Given the description of an element on the screen output the (x, y) to click on. 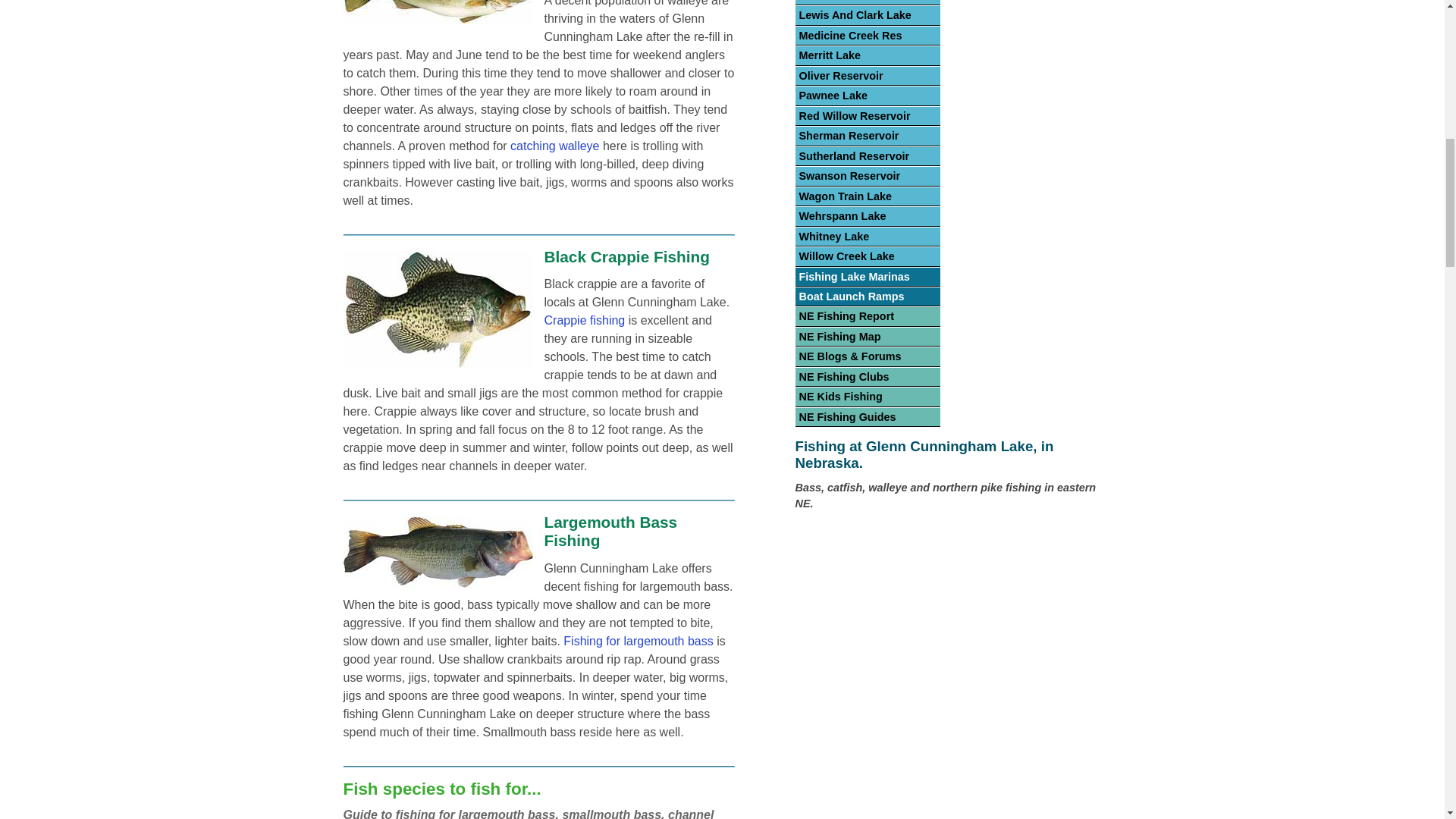
Crappie fishing (585, 319)
catching walleye (554, 145)
Fishing for largemouth bass (638, 640)
